Given the description of an element on the screen output the (x, y) to click on. 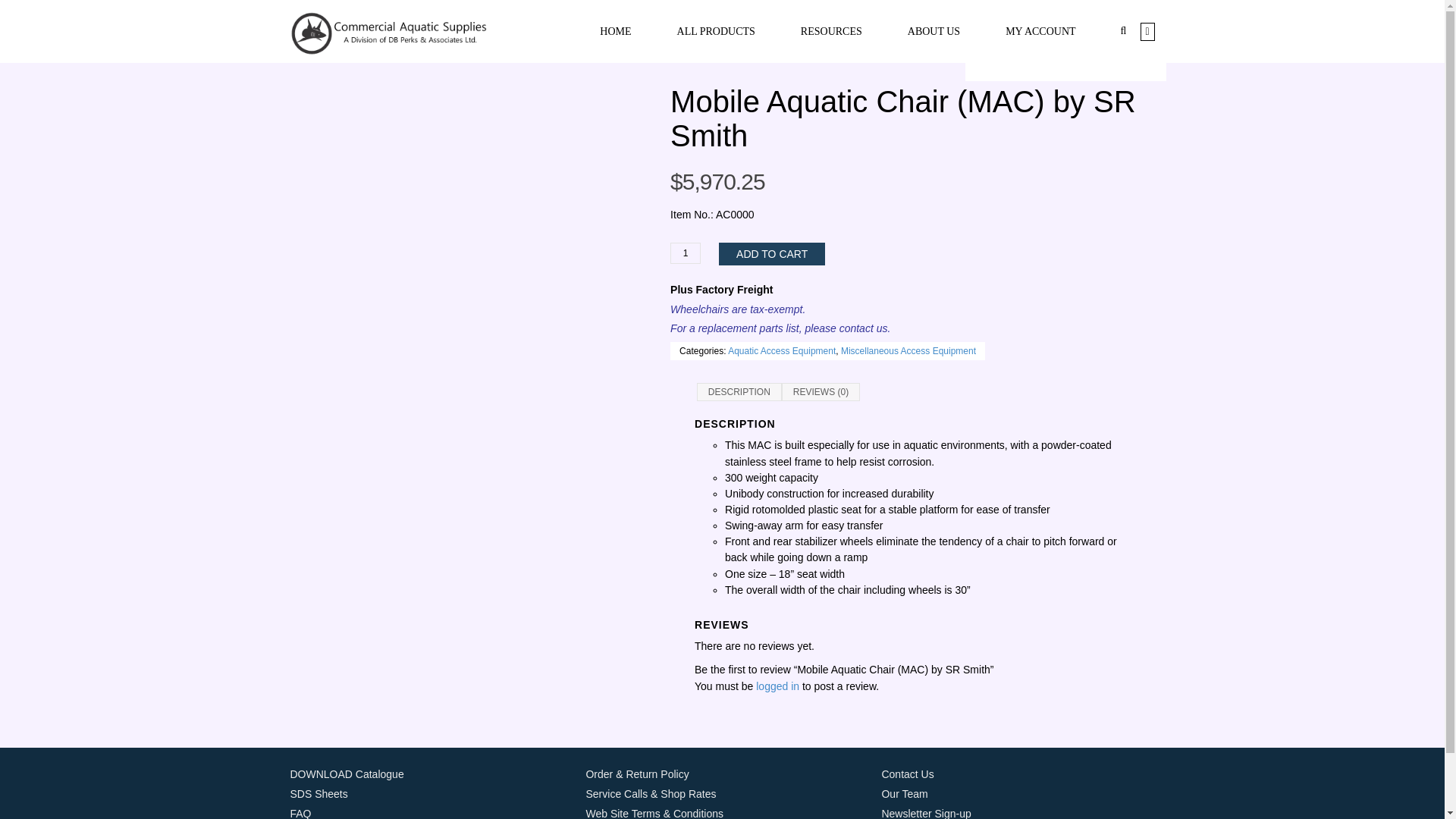
View your shopping cart (1147, 30)
All Products (715, 31)
ALL PRODUCTS (715, 31)
1 (684, 252)
